Given the description of an element on the screen output the (x, y) to click on. 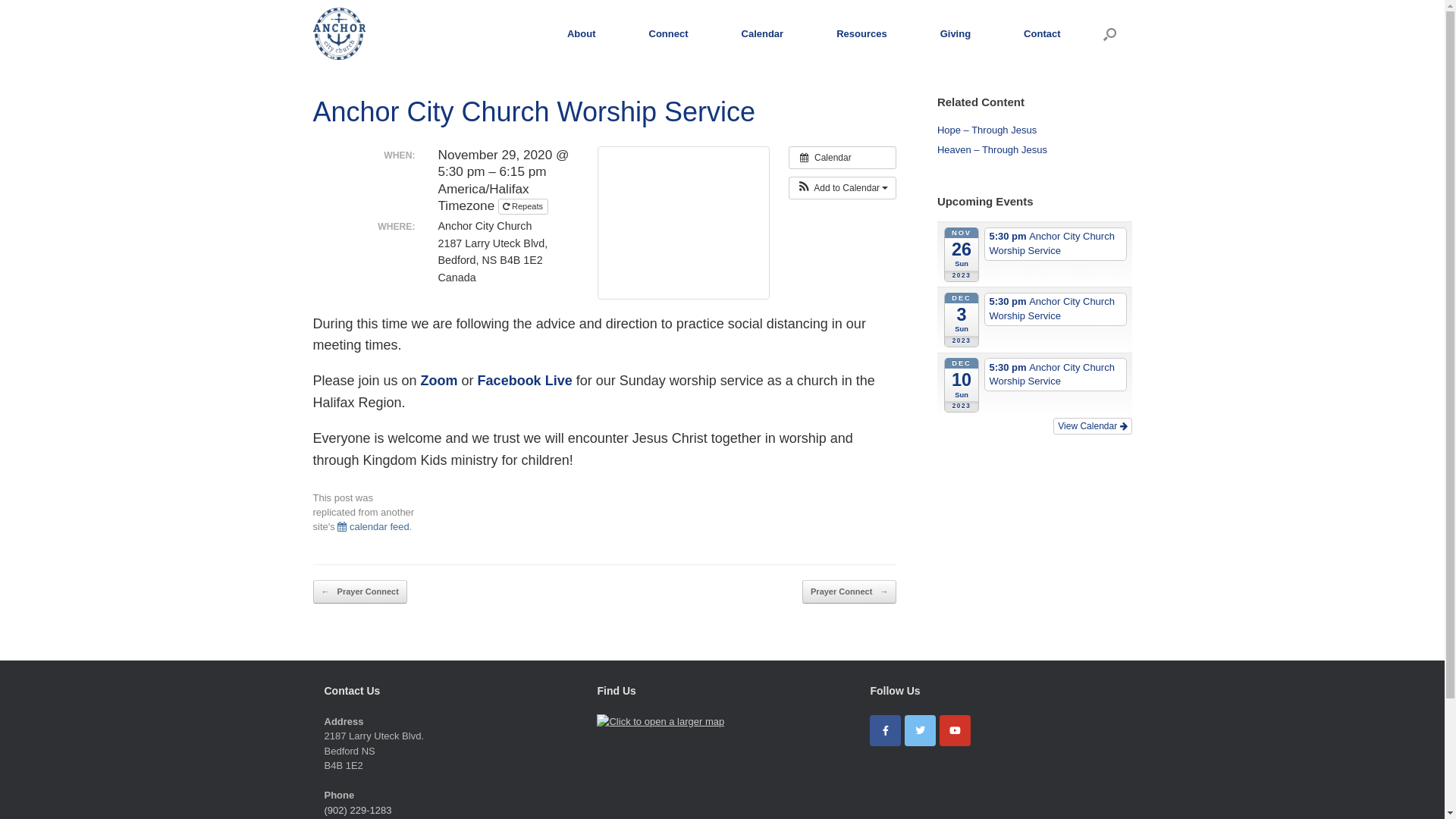
NOV
26
Sun
2023 Element type: text (961, 254)
Click to open a larger map Element type: hover (660, 721)
Resources Element type: text (861, 33)
Twitter Element type: hover (919, 730)
5:30 pm Anchor City Church Worship Service Element type: text (1055, 309)
Repeats Element type: text (523, 206)
Giving Element type: text (955, 33)
5:30 pm Anchor City Church Worship Service Element type: text (1055, 374)
Facebook Element type: hover (884, 730)
(902) 229-1283 Element type: text (358, 809)
DEC
3
Sun
2023 Element type: text (961, 319)
calendar feed Element type: text (372, 525)
YouTube Element type: hover (954, 730)
DEC
10
Sun
2023 Element type: text (961, 384)
Anchor City Church Element type: hover (338, 33)
View Calendar Element type: text (1092, 425)
Zoom Element type: text (439, 380)
Calendar Element type: text (762, 33)
Facebook Live Element type: text (524, 380)
5:30 pm Anchor City Church Worship Service Element type: text (1055, 243)
Connect Element type: text (668, 33)
Calendar Element type: text (842, 157)
About Element type: text (581, 33)
Contact Element type: text (1041, 33)
